Given the description of an element on the screen output the (x, y) to click on. 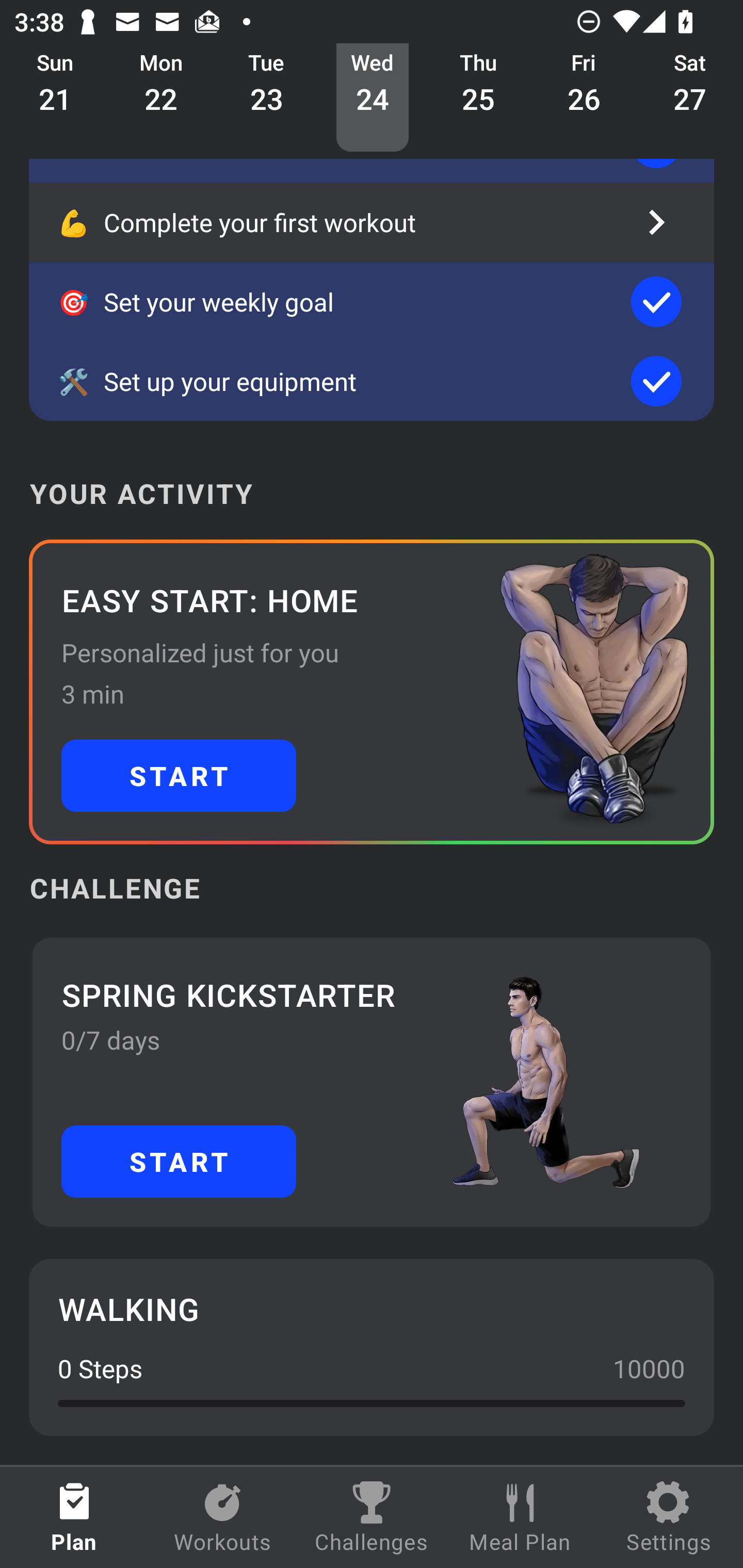
Sun 21 (55, 97)
Mon 22 (160, 97)
Tue 23 (266, 97)
Wed 24 (372, 97)
Thu 25 (478, 97)
Fri 26 (584, 97)
Sat 27 (690, 97)
💪 Complete your first workout (371, 221)
START (178, 776)
SPRING KICKSTARTER 0/7 days START (371, 1082)
START (178, 1161)
WALKING 0 Steps 10000 0.0 (371, 1347)
 Workouts  (222, 1517)
 Challenges  (371, 1517)
 Meal Plan  (519, 1517)
 Settings  (668, 1517)
